Given the description of an element on the screen output the (x, y) to click on. 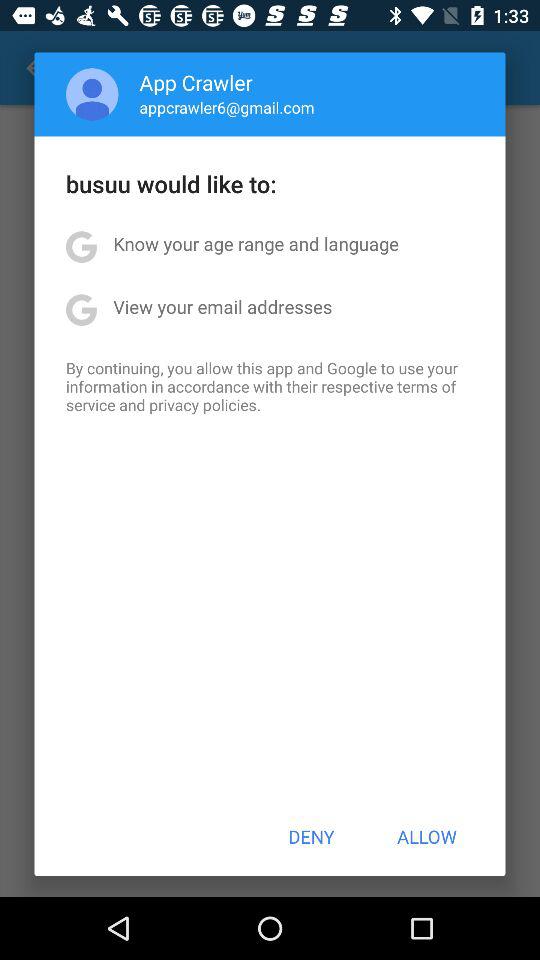
open the item next to allow icon (311, 836)
